Given the description of an element on the screen output the (x, y) to click on. 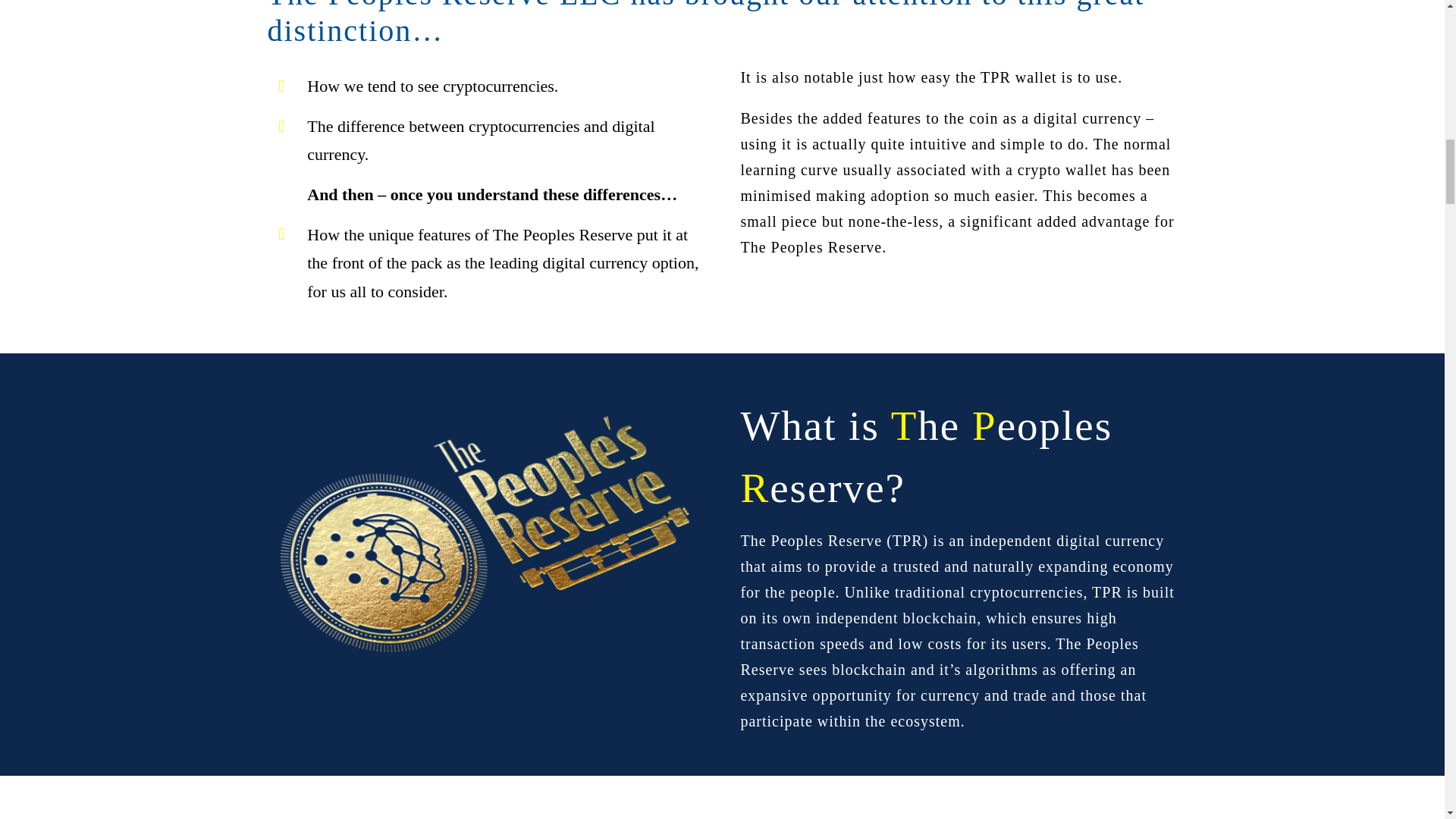
The Peoples Reserve (484, 538)
